Given the description of an element on the screen output the (x, y) to click on. 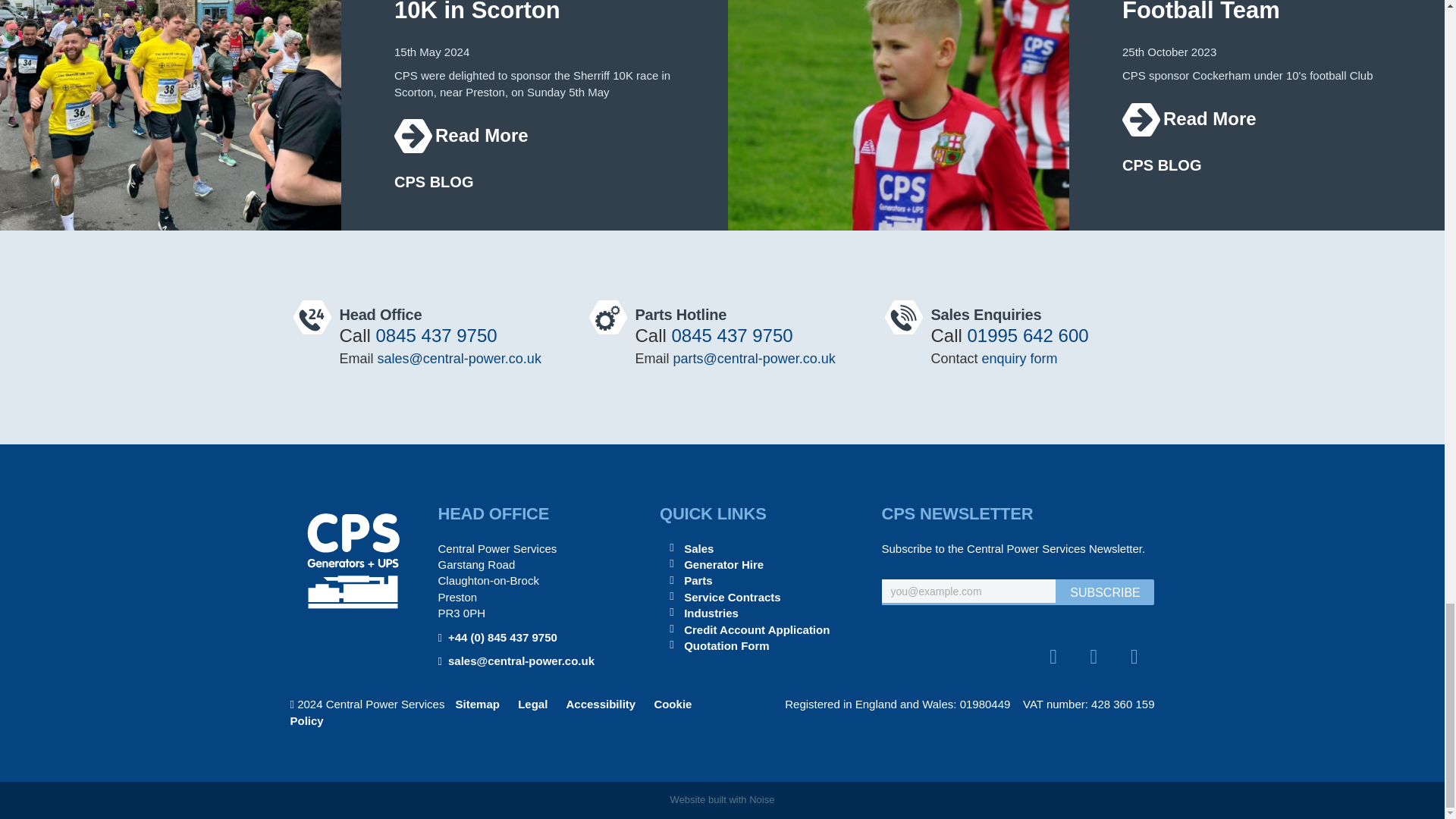
LinkedIn (1052, 657)
Facebook (1093, 657)
Instagram (1133, 657)
